Given the description of an element on the screen output the (x, y) to click on. 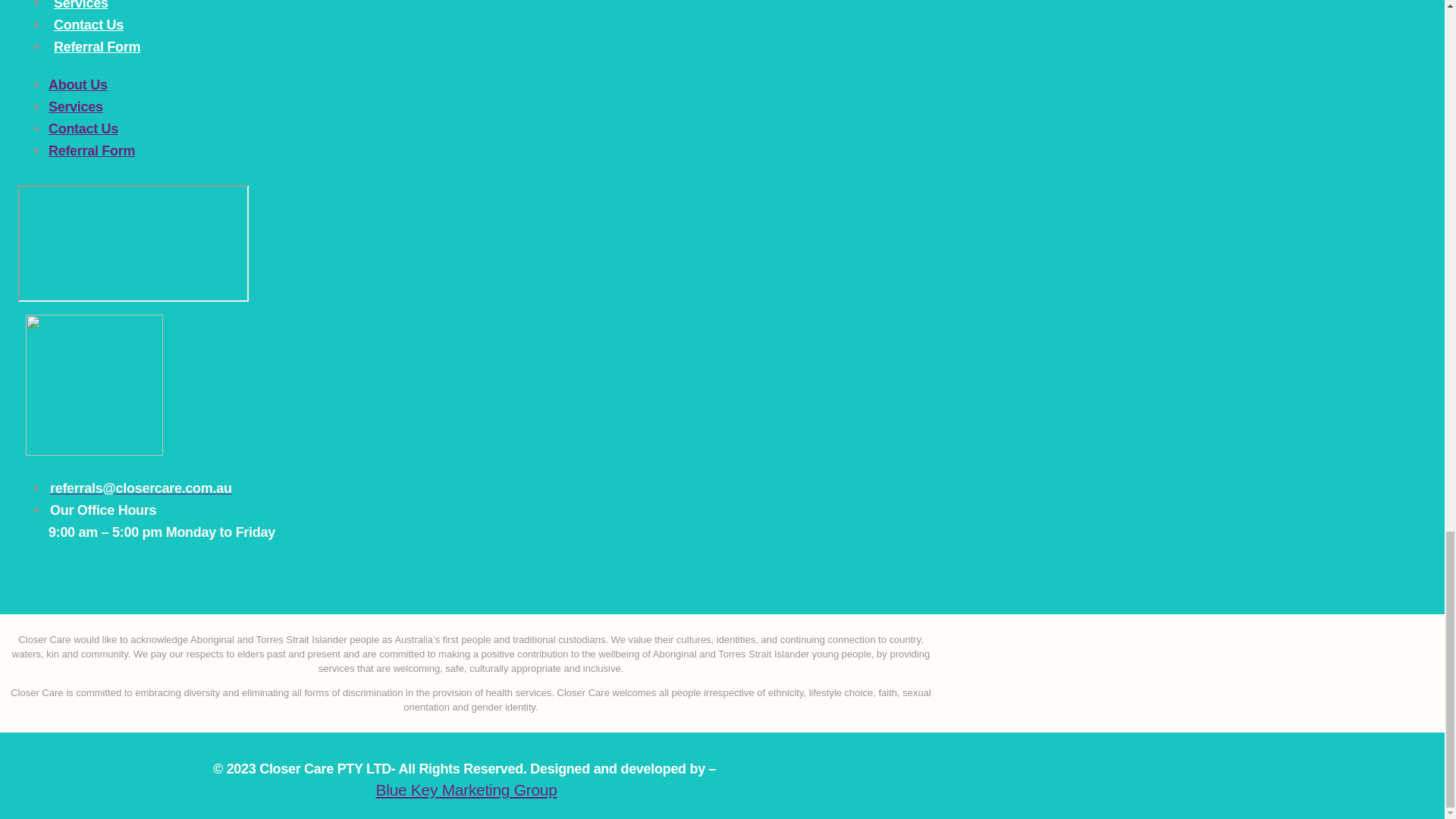
sydney, Australia (132, 243)
About Us (77, 84)
Referral Form (91, 150)
Services (80, 6)
Contact Us (88, 25)
Contact Us (82, 128)
Referral Form (96, 46)
Services (75, 106)
